Given the description of an element on the screen output the (x, y) to click on. 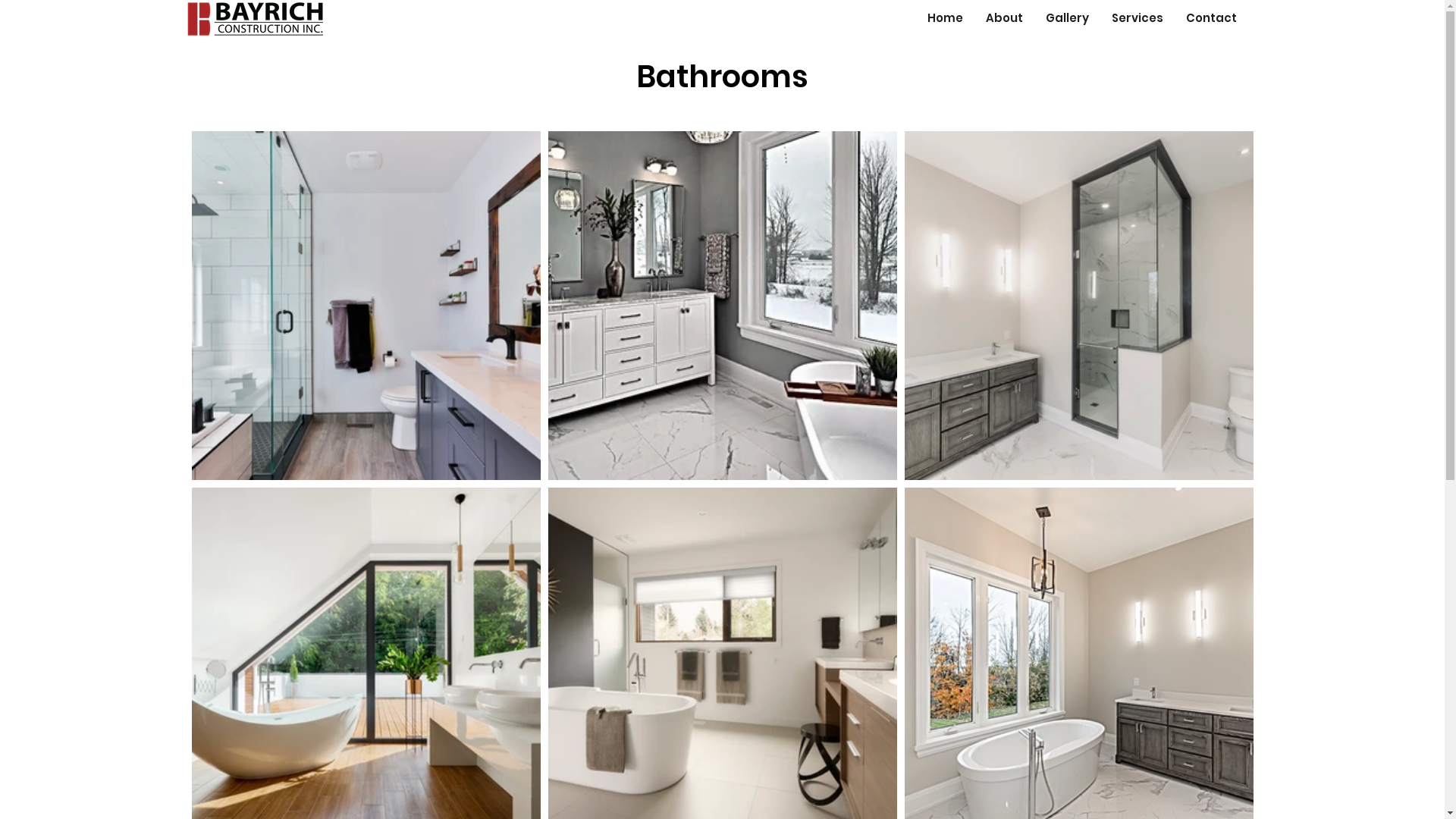
Contact Element type: text (1210, 17)
Services Element type: text (1136, 17)
Gallery Element type: text (1067, 17)
About Element type: text (1003, 17)
Home Element type: text (945, 17)
